Given the description of an element on the screen output the (x, y) to click on. 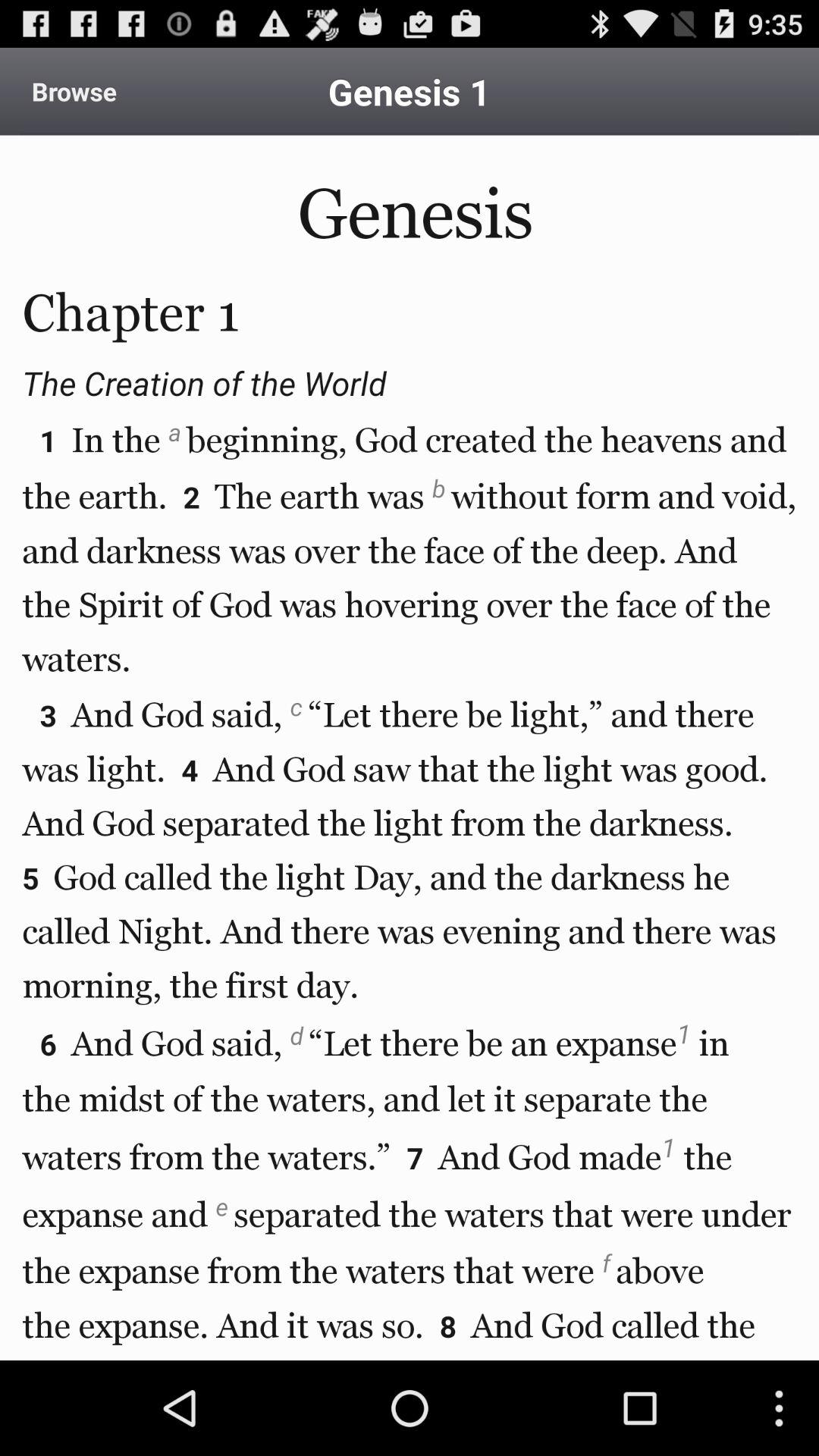
choose icon to the left of the genesis 1 icon (73, 91)
